Given the description of an element on the screen output the (x, y) to click on. 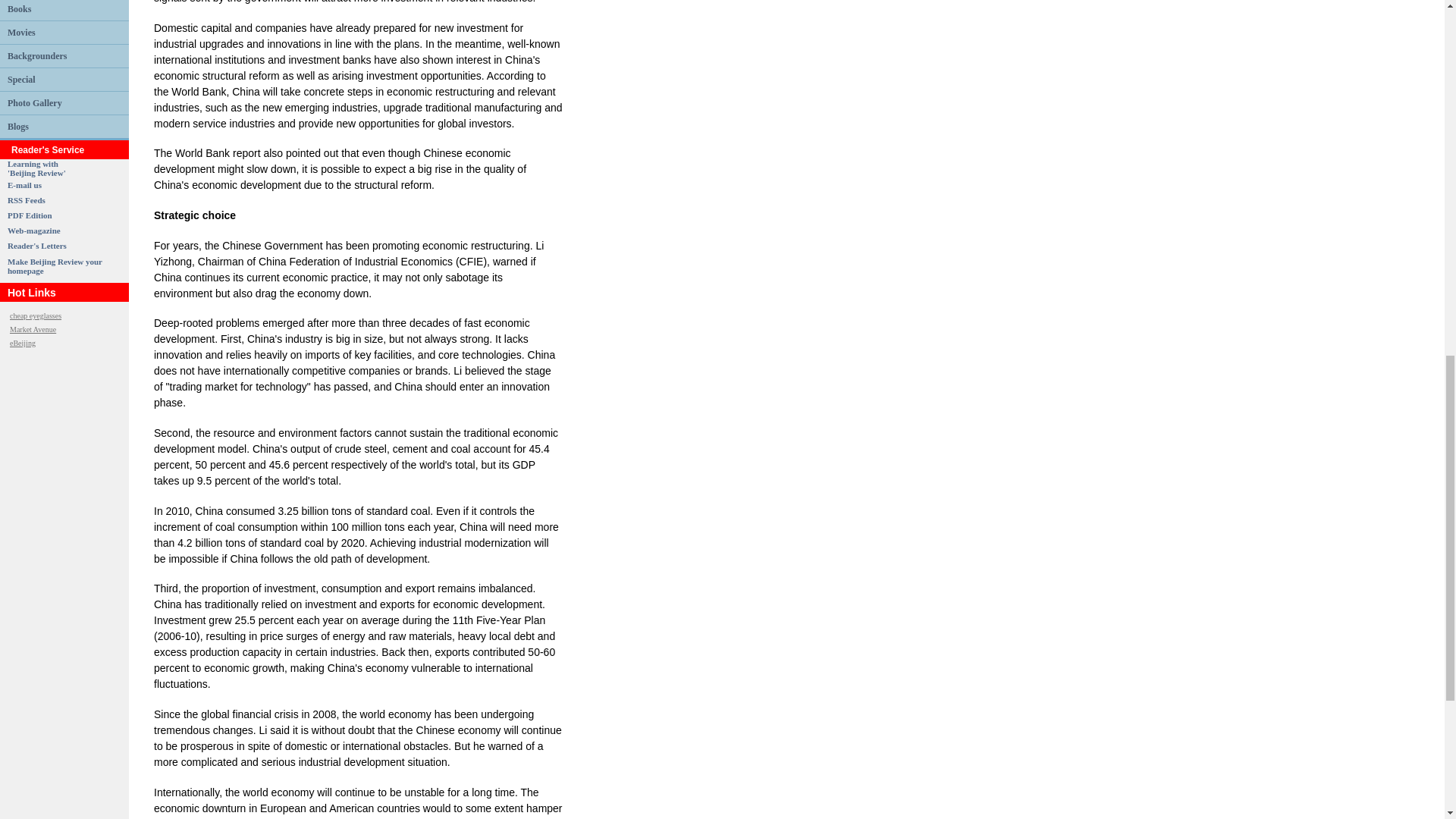
Reader's Letters (36, 245)
RSS Feeds (26, 199)
Make Beijing Review your homepage (36, 167)
Photo Gallery (54, 266)
Blogs (34, 102)
Backgrounders (18, 126)
Books (36, 54)
cheap eyeglasses (18, 8)
Special (35, 316)
